Given the description of an element on the screen output the (x, y) to click on. 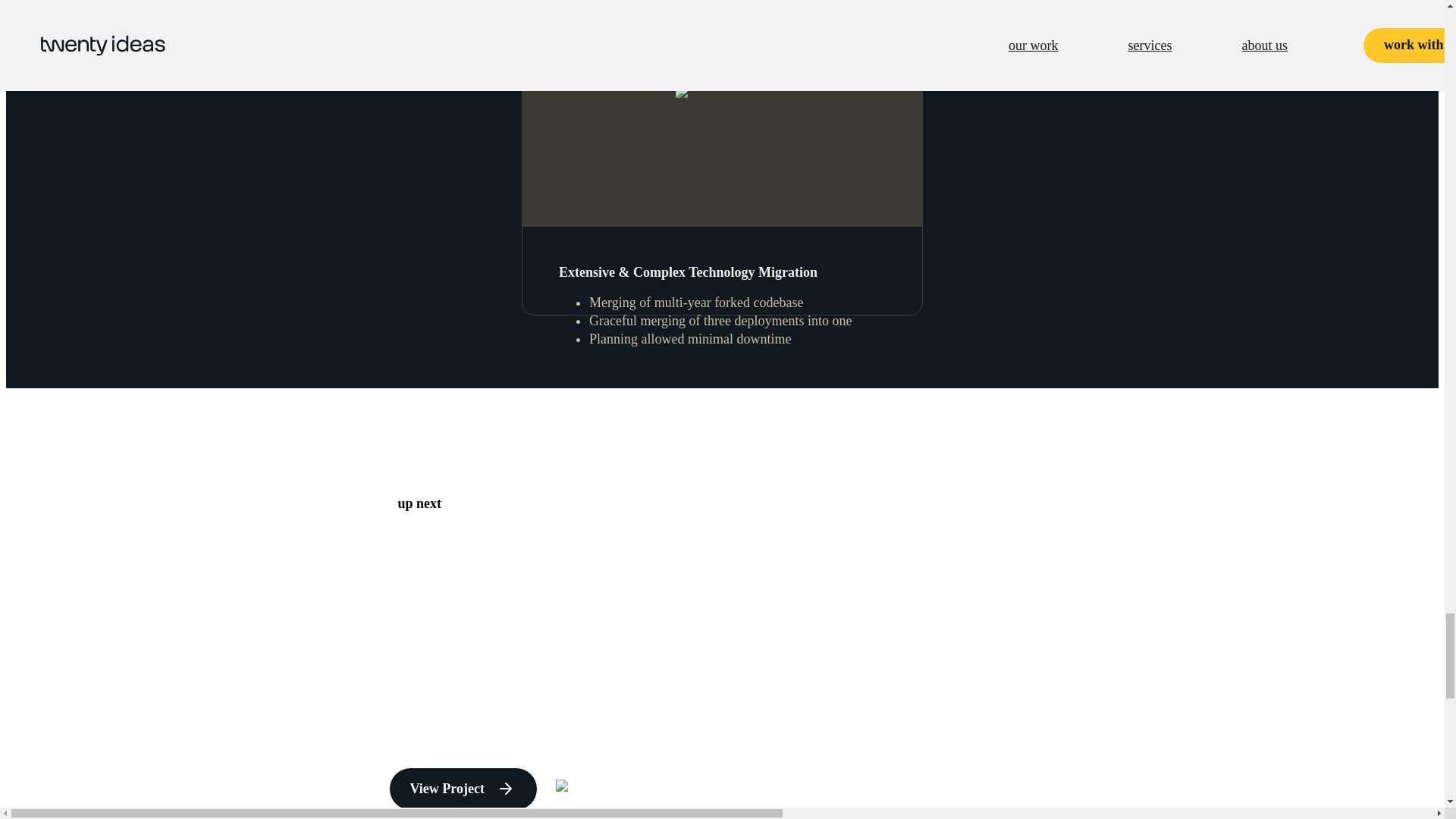
View Project (462, 788)
All (591, 788)
